Given the description of an element on the screen output the (x, y) to click on. 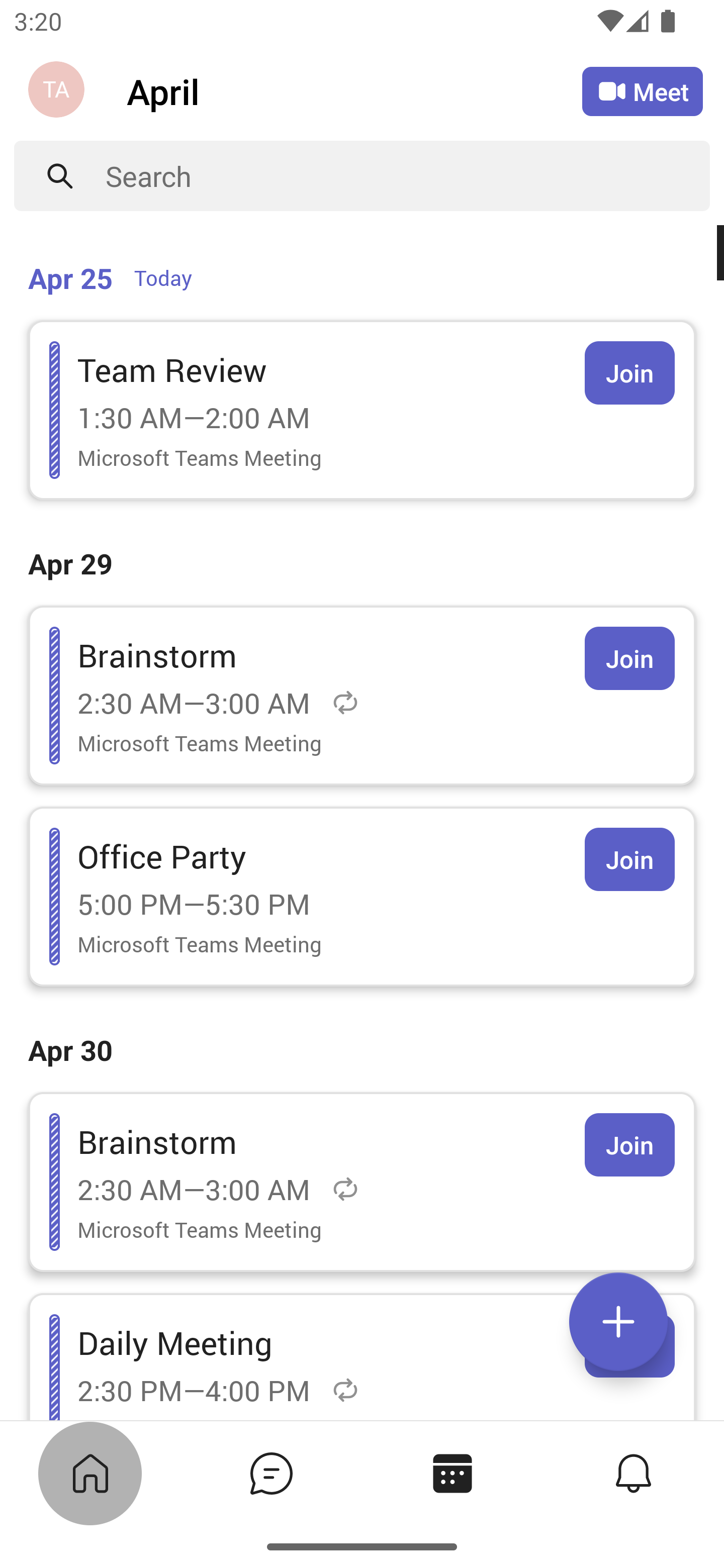
Navigation (58, 91)
Meet Meet now or join with an ID (642, 91)
April April Calendar Agenda View (354, 90)
Search (407, 176)
Join (629, 372)
Join (629, 658)
Join (629, 858)
Join (629, 1144)
Expand meetings menu (618, 1321)
Home tab,1 of 4, not selected (89, 1472)
Chat tab,2 of 4, not selected (270, 1472)
Calendar tab, 3 of 4 (451, 1472)
Activity tab,4 of 4, not selected (632, 1472)
